Given the description of an element on the screen output the (x, y) to click on. 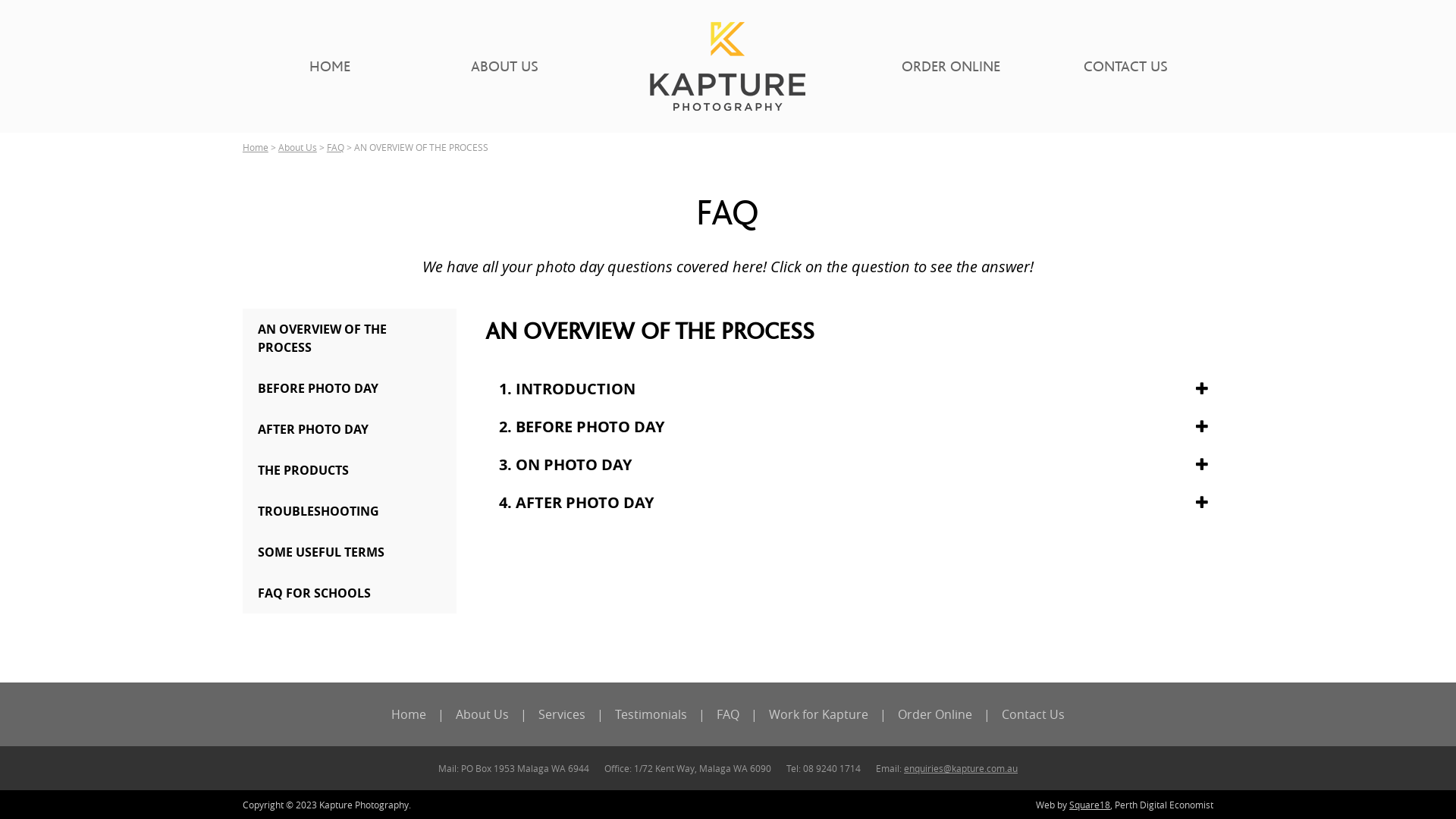
Services Element type: text (561, 714)
SOME USEFUL TERMS Element type: text (349, 551)
Order Online Element type: text (934, 714)
THE PRODUCTS Element type: text (349, 469)
Home Element type: text (408, 714)
FAQ FOR SCHOOLS Element type: text (349, 592)
Square18 Element type: text (1089, 804)
About Us Element type: text (297, 147)
Testimonials Element type: text (650, 714)
AN OVERVIEW OF THE PROCESS Element type: text (349, 337)
ORDER ONLINE Element type: text (950, 65)
BEFORE PHOTO DAY Element type: text (349, 387)
ABOUT US Element type: text (504, 65)
AFTER PHOTO DAY Element type: text (349, 428)
TROUBLESHOOTING Element type: text (349, 510)
Contact Us Element type: text (1033, 714)
enquiries@kapture.com.au Element type: text (960, 768)
CONTACT US Element type: text (1125, 65)
FAQ Element type: text (335, 147)
About Us Element type: text (482, 714)
Home Element type: text (255, 147)
FAQ Element type: text (727, 714)
Work for Kapture Element type: text (818, 714)
HOME Element type: text (329, 65)
